Given the description of an element on the screen output the (x, y) to click on. 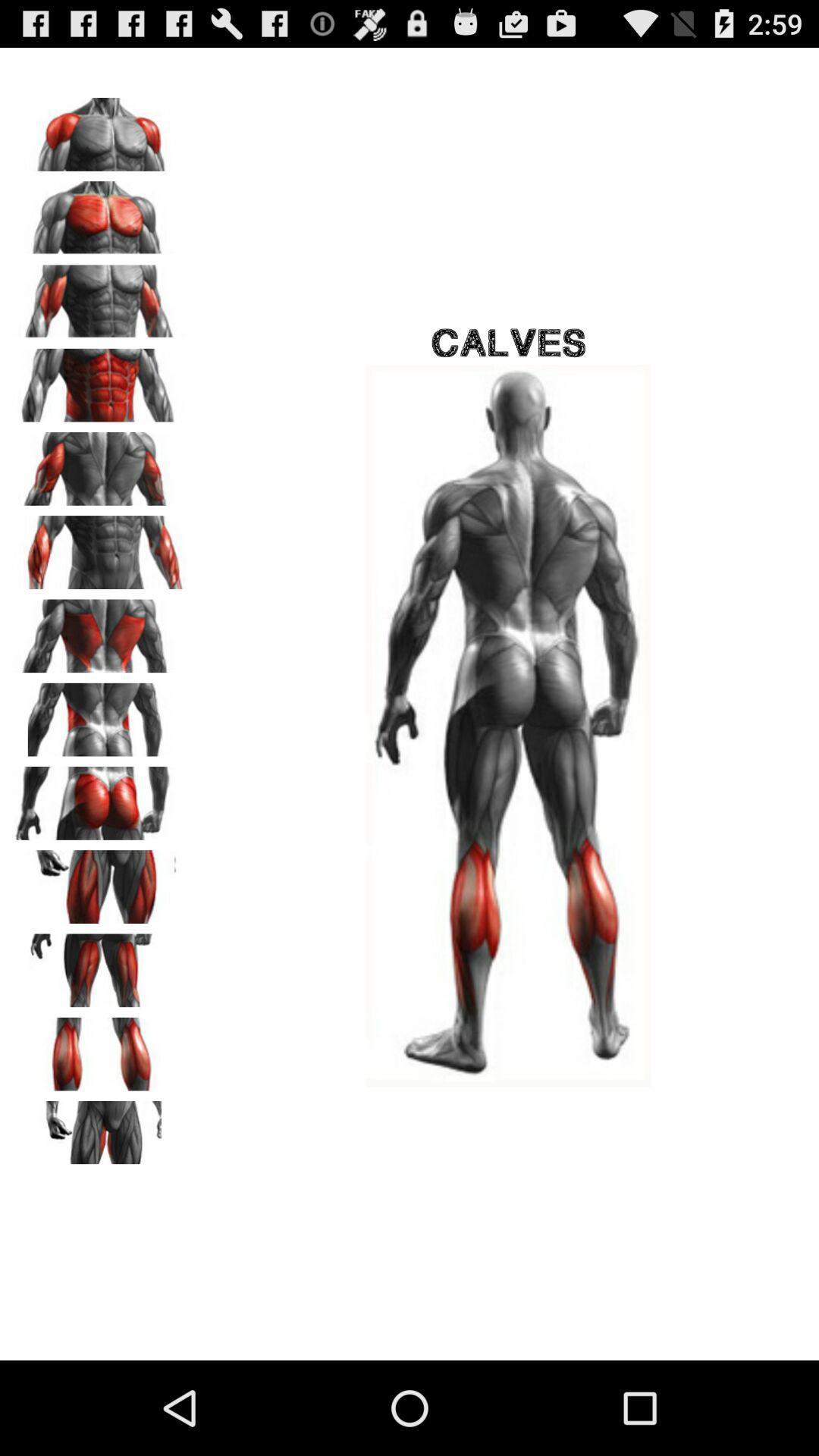
front side of the body (99, 380)
